Given the description of an element on the screen output the (x, y) to click on. 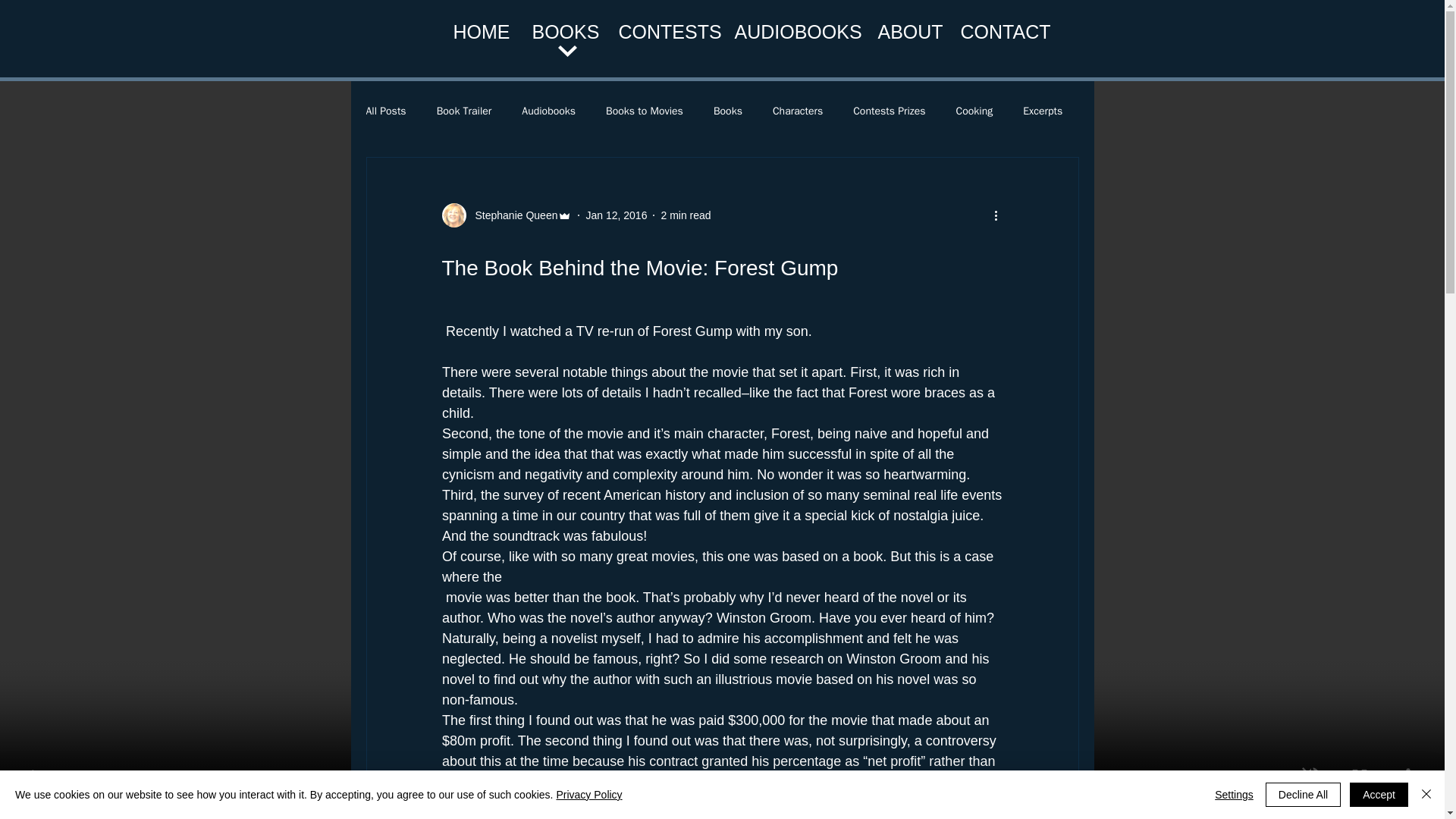
Stephanie Queen (511, 215)
Cooking (974, 110)
Contests Prizes (888, 110)
Book Trailer (464, 110)
2 min read (685, 215)
Books to Movies (643, 110)
All Posts (385, 110)
Stephanie Queen (506, 215)
ABOUT (907, 31)
Books (727, 110)
